Given the description of an element on the screen output the (x, y) to click on. 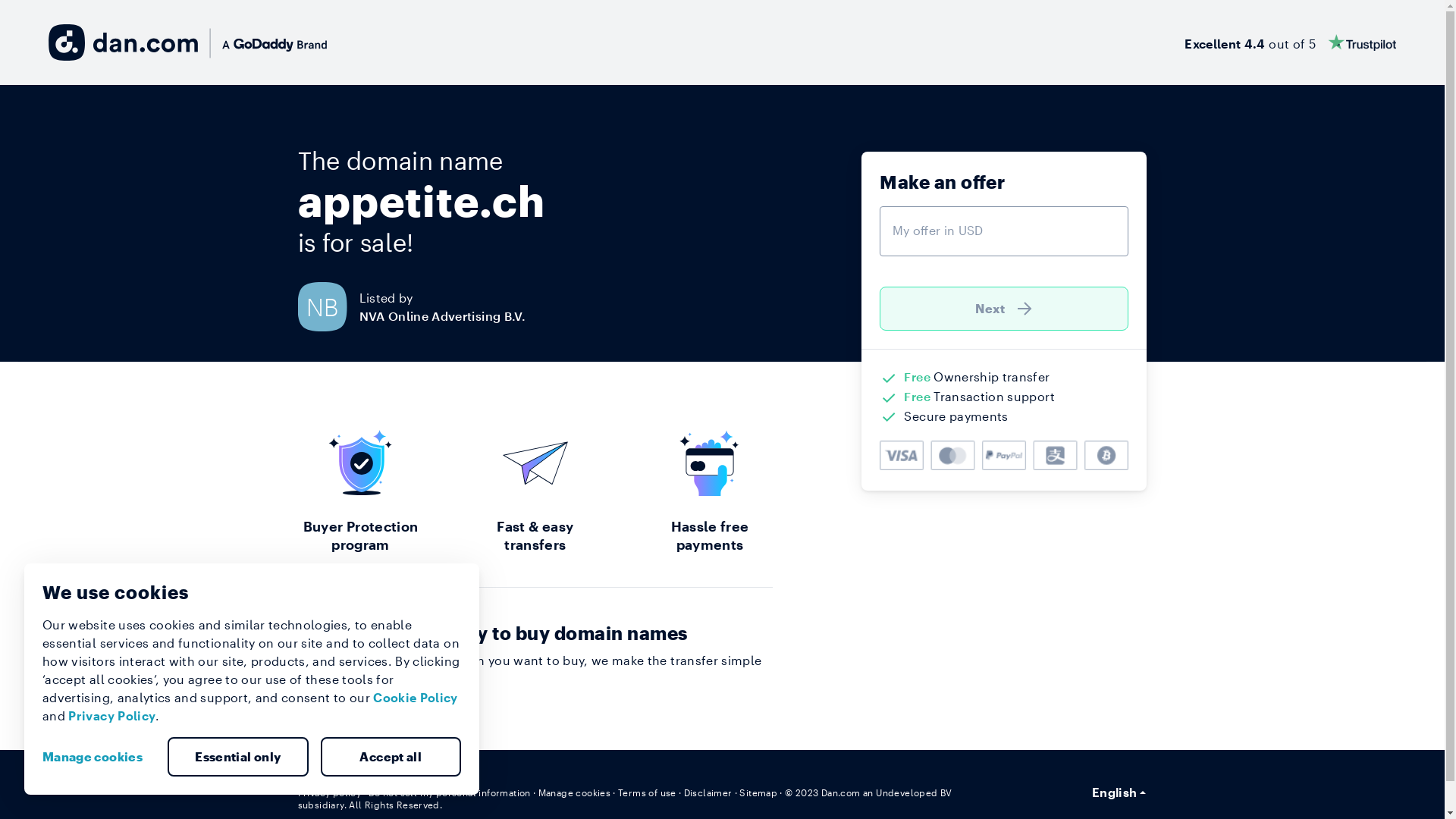
Privacy policy Element type: text (328, 792)
Manage cookies Element type: text (574, 792)
Sitemap Element type: text (758, 792)
Privacy Policy Element type: text (111, 715)
Terms of use Element type: text (647, 792)
Next
) Element type: text (1003, 308)
Accept all Element type: text (390, 756)
Essential only Element type: text (237, 756)
English Element type: text (1119, 792)
Excellent 4.4 out of 5 Element type: text (1290, 42)
Disclaimer Element type: text (708, 792)
Cookie Policy Element type: text (415, 697)
Manage cookies Element type: text (98, 756)
Do not sell my personal information Element type: text (449, 792)
